Given the description of an element on the screen output the (x, y) to click on. 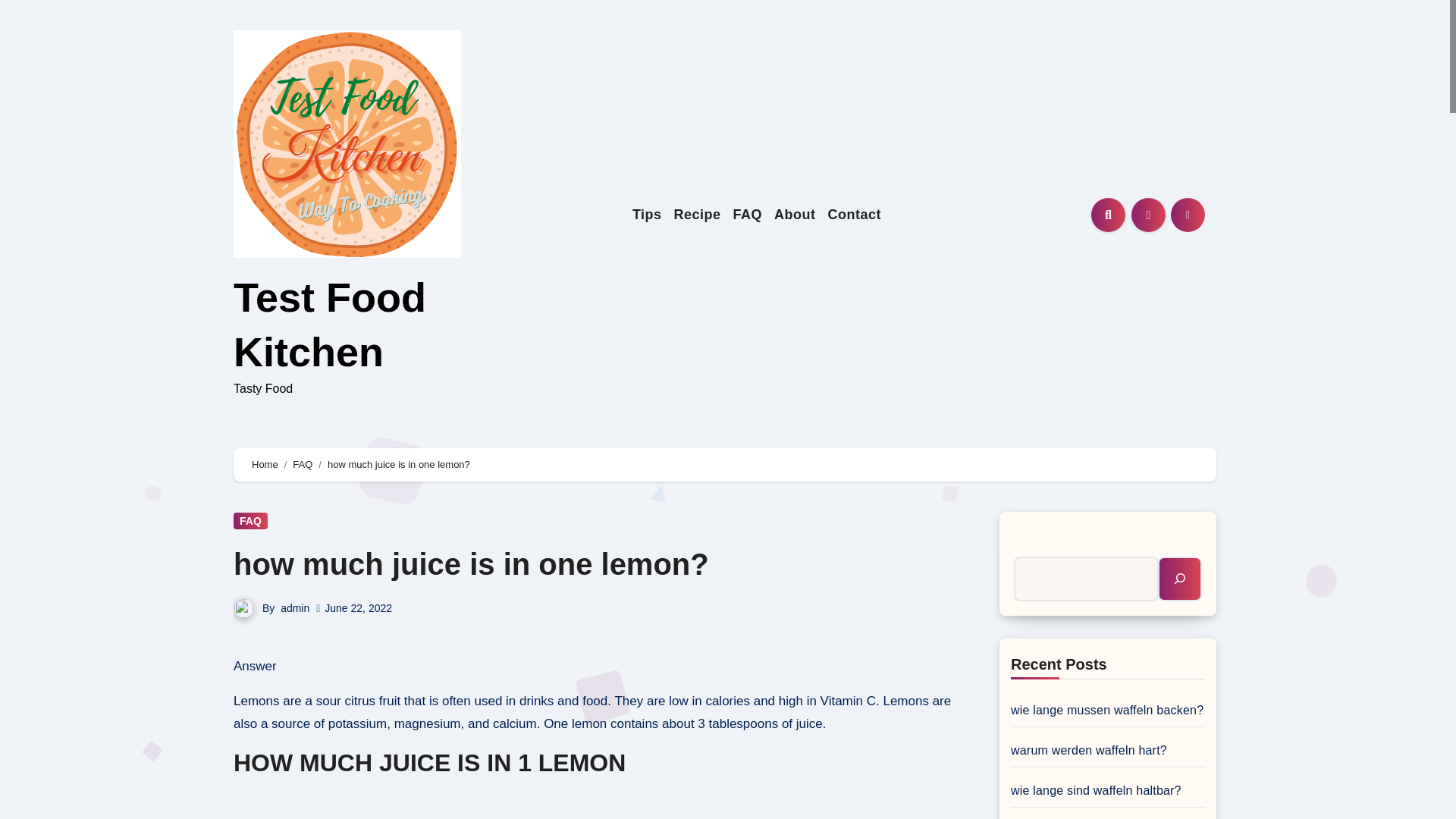
About (794, 214)
how much juice is in one lemon? (470, 563)
admin (294, 607)
Home (264, 464)
FAQ (302, 464)
Tips (647, 214)
Contact (855, 214)
Contact (855, 214)
Test Food Kitchen (329, 324)
Recipe (697, 214)
